Given the description of an element on the screen output the (x, y) to click on. 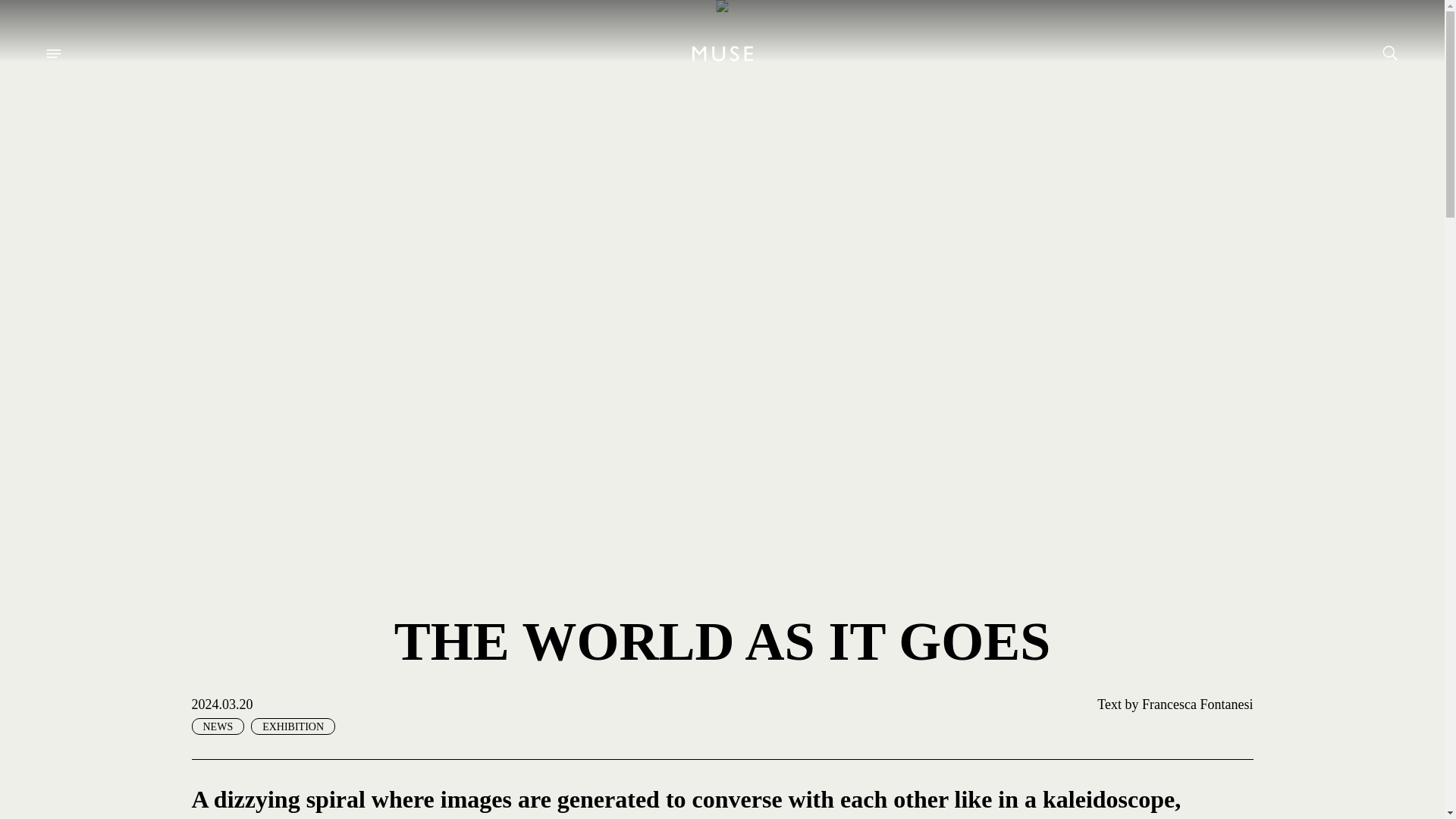
EXHIBITION (292, 726)
NEWS (217, 726)
